Given the description of an element on the screen output the (x, y) to click on. 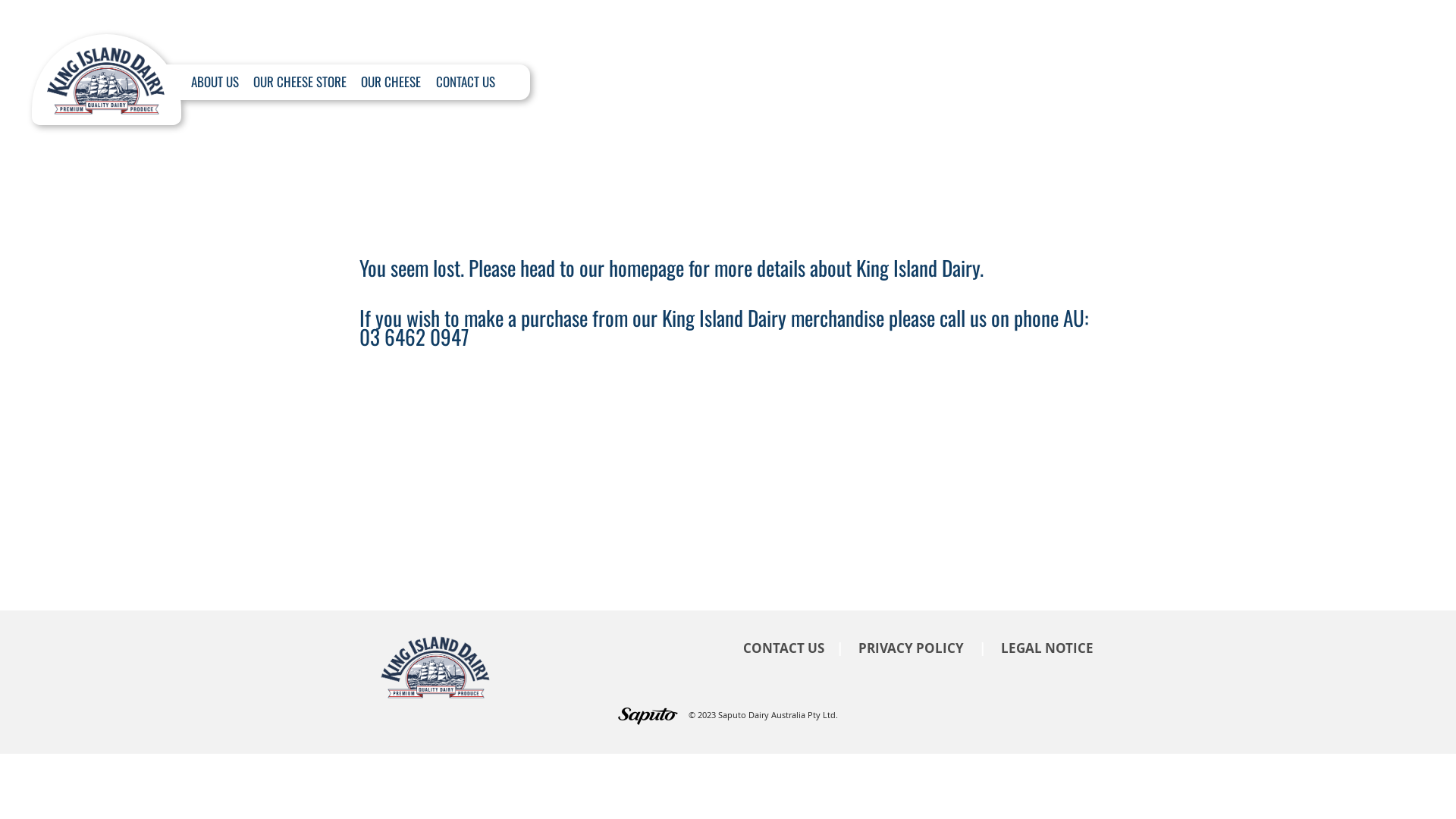
CONTACT US Element type: text (465, 81)
LEGAL NOTICE Element type: text (1047, 647)
PRIVACY POLICY Element type: text (910, 647)
OUR CHEESE STORE Element type: text (299, 81)
Home Element type: hover (106, 71)
ABOUT US Element type: text (214, 81)
OUR CHEESE Element type: text (390, 81)
CONTACT US Element type: text (783, 647)
